Given the description of an element on the screen output the (x, y) to click on. 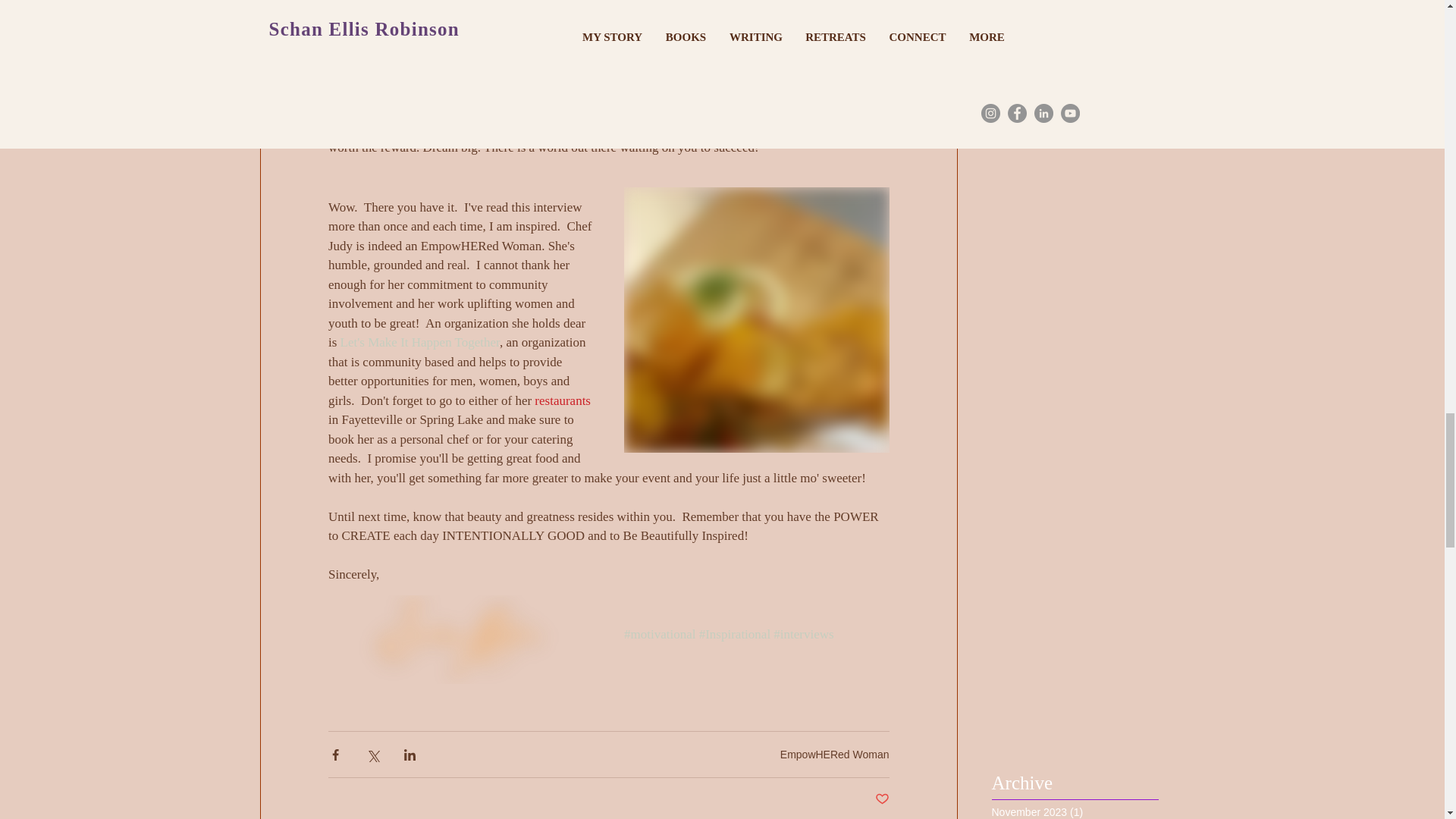
restaurants (562, 400)
Let's Make It Happen Together (419, 341)
EmpowHERed Woman (834, 754)
Post not marked as liked (882, 799)
